Given the description of an element on the screen output the (x, y) to click on. 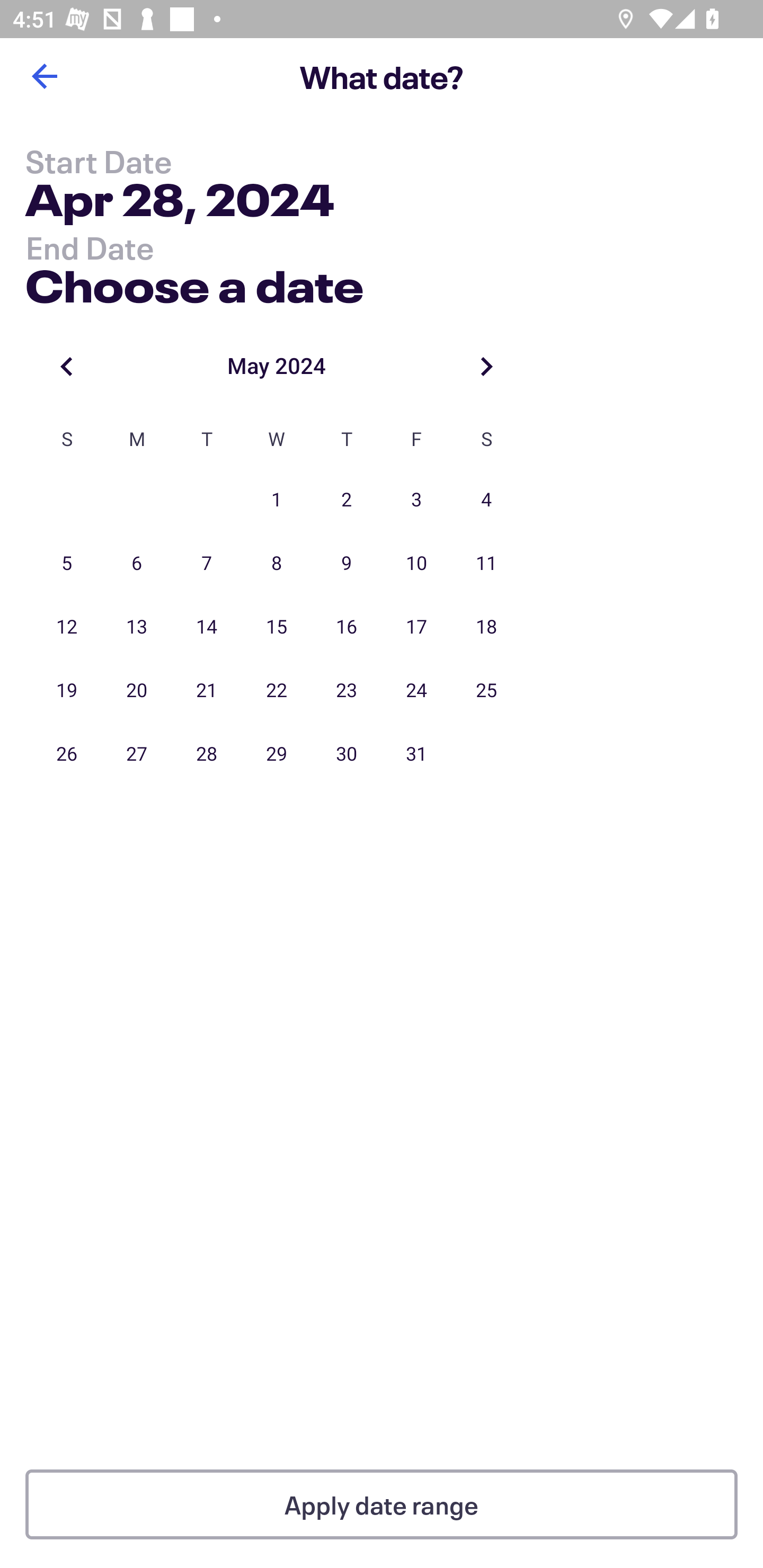
Back button (44, 75)
Apr 28, 2024 (179, 203)
Choose a date (194, 282)
Previous month (66, 365)
Next month (486, 365)
1 01 May 2024 (276, 499)
2 02 May 2024 (346, 499)
3 03 May 2024 (416, 499)
4 04 May 2024 (486, 499)
5 05 May 2024 (66, 563)
6 06 May 2024 (136, 563)
7 07 May 2024 (206, 563)
8 08 May 2024 (276, 563)
9 09 May 2024 (346, 563)
10 10 May 2024 (416, 563)
11 11 May 2024 (486, 563)
12 12 May 2024 (66, 626)
13 13 May 2024 (136, 626)
14 14 May 2024 (206, 626)
15 15 May 2024 (276, 626)
16 16 May 2024 (346, 626)
17 17 May 2024 (416, 626)
18 18 May 2024 (486, 626)
19 19 May 2024 (66, 690)
20 20 May 2024 (136, 690)
21 21 May 2024 (206, 690)
22 22 May 2024 (276, 690)
23 23 May 2024 (346, 690)
24 24 May 2024 (416, 690)
25 25 May 2024 (486, 690)
26 26 May 2024 (66, 753)
27 27 May 2024 (136, 753)
28 28 May 2024 (206, 753)
29 29 May 2024 (276, 753)
30 30 May 2024 (346, 753)
31 31 May 2024 (416, 753)
Apply date range (381, 1504)
